Given the description of an element on the screen output the (x, y) to click on. 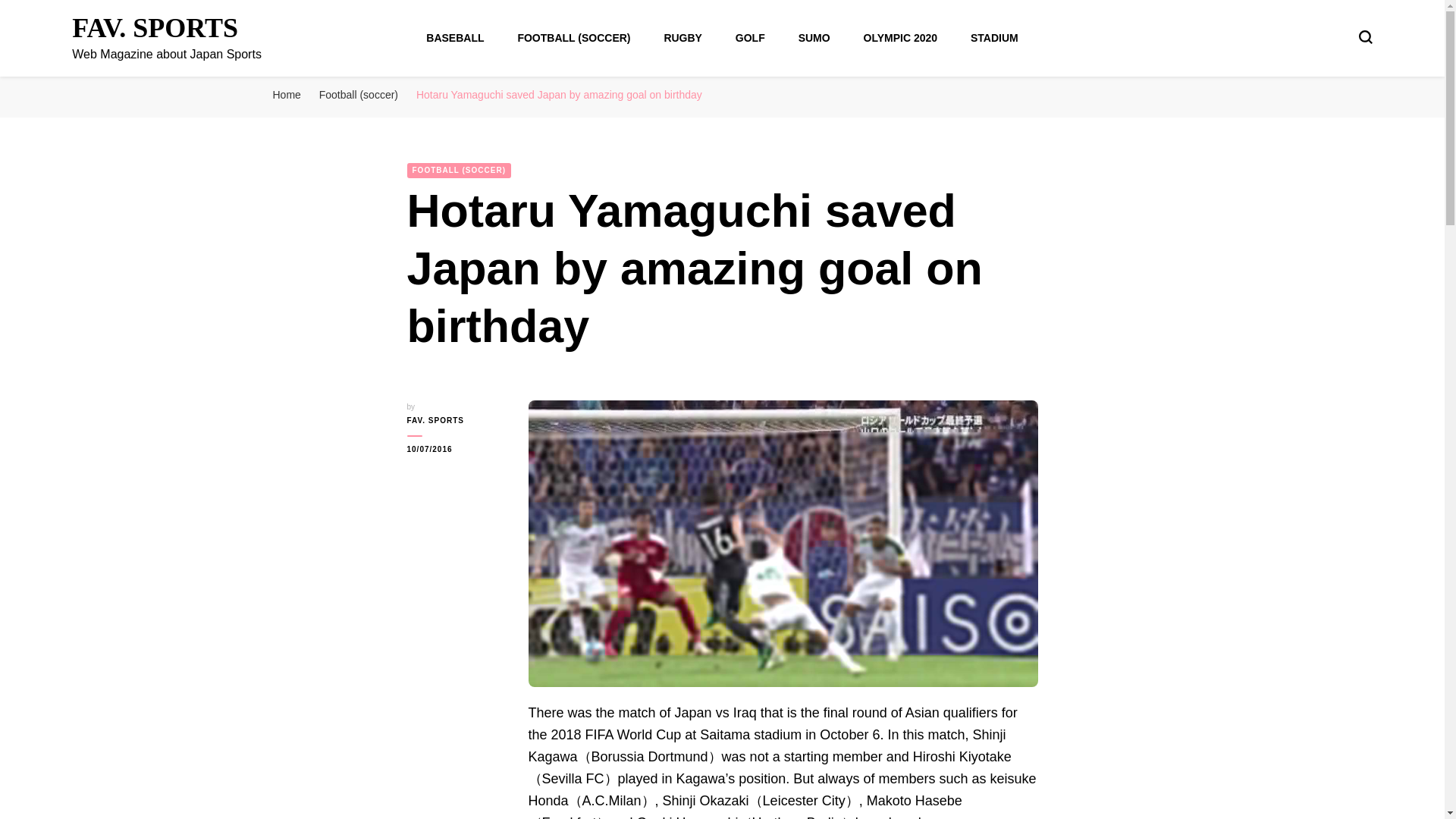
GOLF (750, 37)
Home (287, 94)
OLYMPIC 2020 (900, 37)
Hotaru Yamaguchi saved Japan by amazing goal on birthday (558, 94)
FAV. SPORTS (154, 28)
FAV. SPORTS (455, 420)
BASEBALL (454, 37)
STADIUM (994, 37)
SUMO (813, 37)
RUGBY (682, 37)
